Given the description of an element on the screen output the (x, y) to click on. 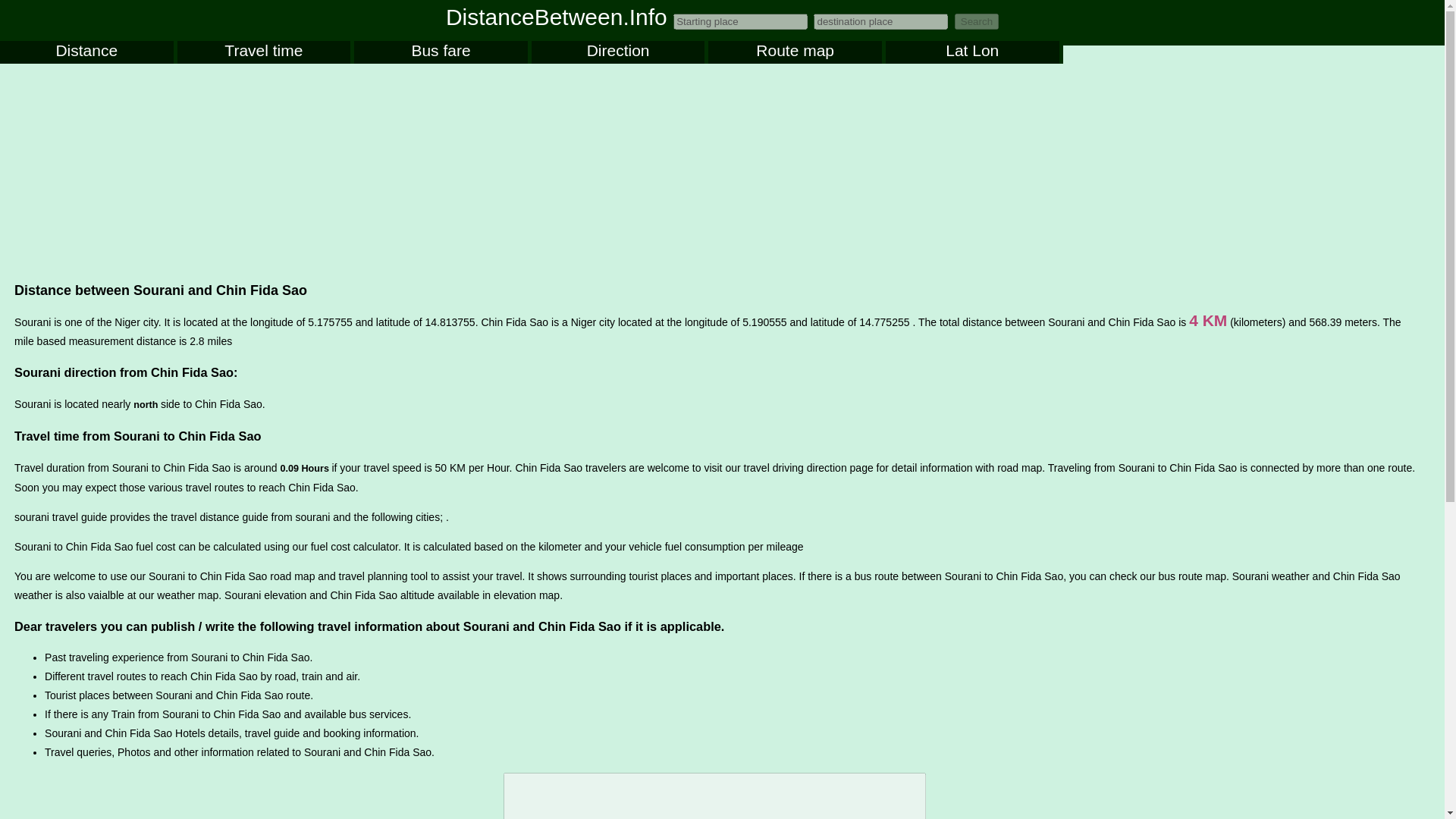
Route map (794, 51)
Lat Lon (972, 51)
Direction (617, 51)
Starting place (740, 21)
Search (976, 21)
Travel time (263, 51)
destination place (880, 21)
Bus fare (440, 51)
Distance (86, 51)
